Given the description of an element on the screen output the (x, y) to click on. 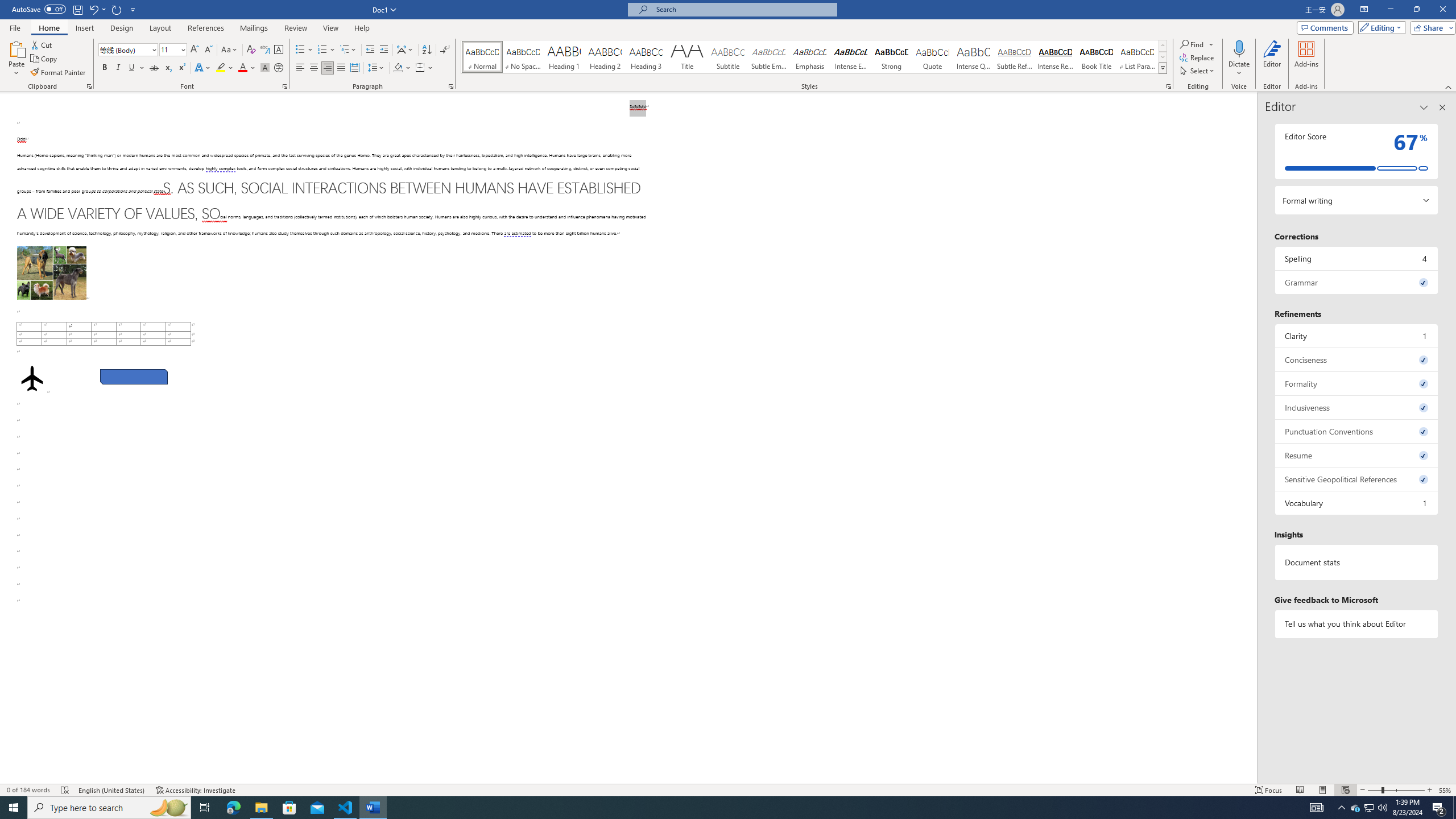
Heading 3 (646, 56)
Text Highlight Color (224, 67)
Row Down (1162, 56)
Undo Paragraph Alignment (96, 9)
Font... (285, 85)
Decrease Indent (370, 49)
Shrink Font (208, 49)
Rectangle: Diagonal Corners Snipped 2 (133, 376)
Resume, 0 issues. Press space or enter to review items. (1356, 454)
Office Clipboard... (88, 85)
